Given the description of an element on the screen output the (x, y) to click on. 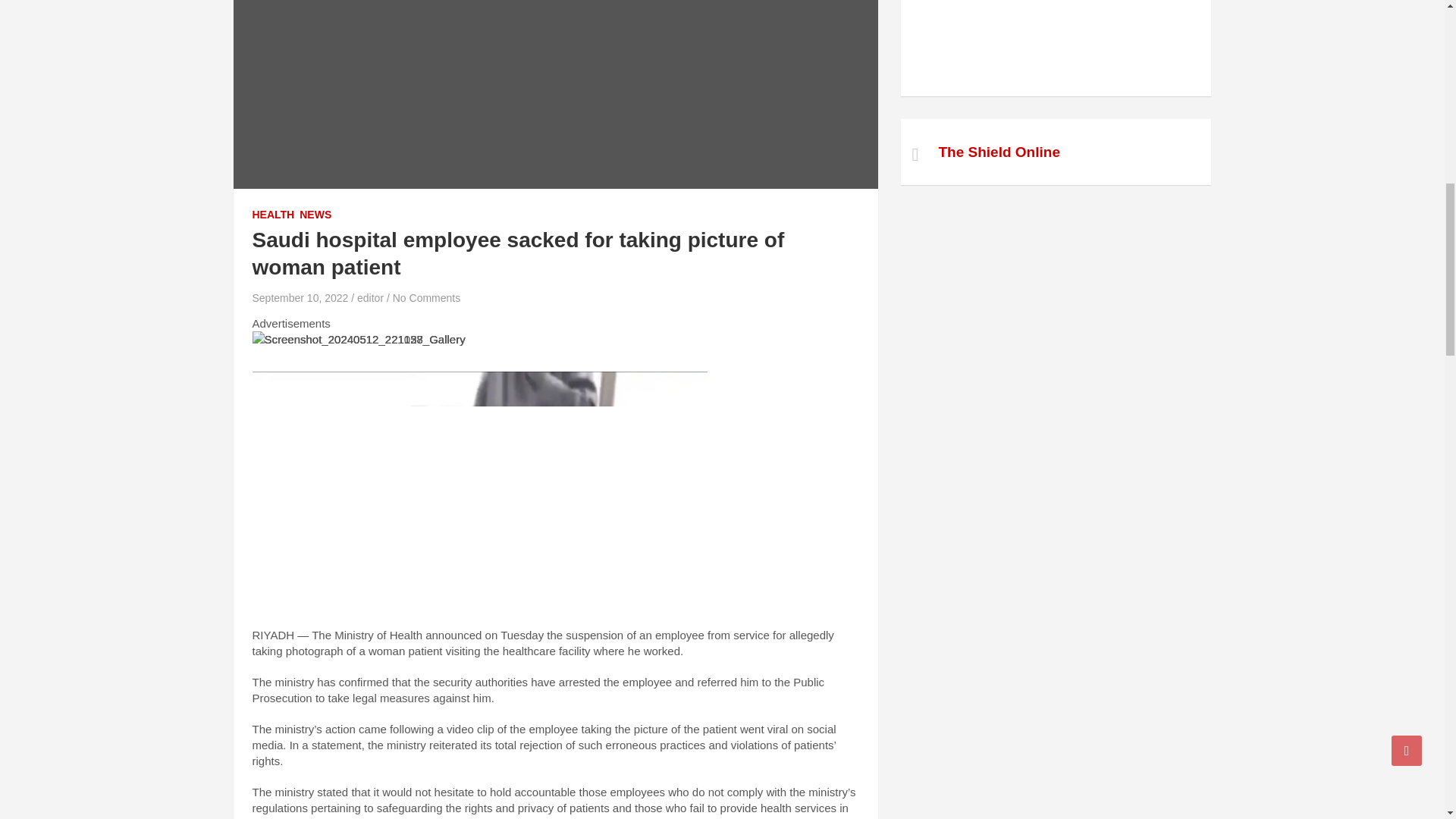
editor (370, 297)
The Shield Online (999, 151)
HEALTH (272, 215)
September 10, 2022 (299, 297)
No Comments (426, 297)
NEWS (315, 215)
